Given the description of an element on the screen output the (x, y) to click on. 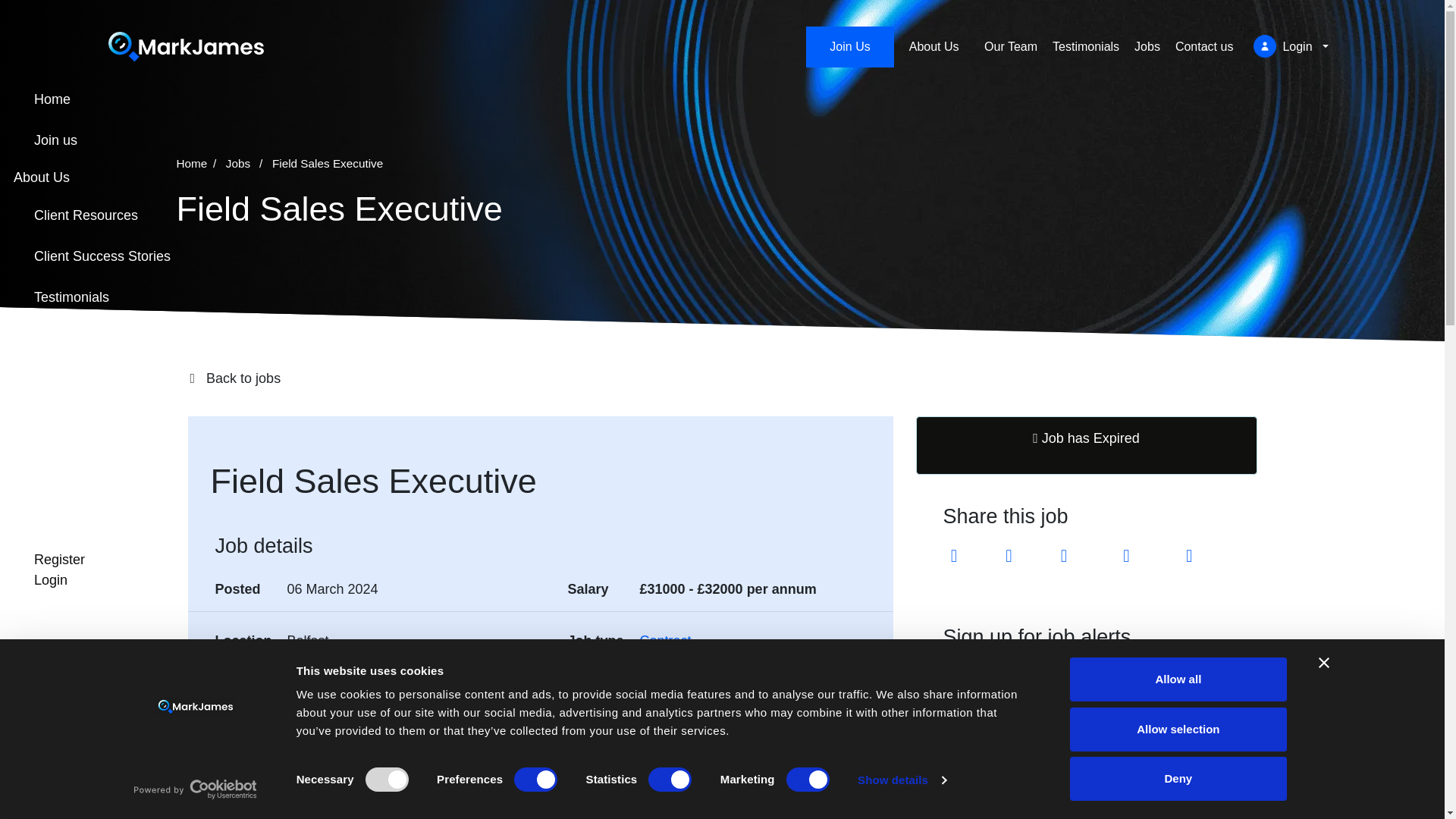
About Us (938, 46)
Join Us (849, 46)
Allow all (1178, 679)
Show details (900, 780)
Allow selection (1178, 728)
Deny (1178, 778)
